Given the description of an element on the screen output the (x, y) to click on. 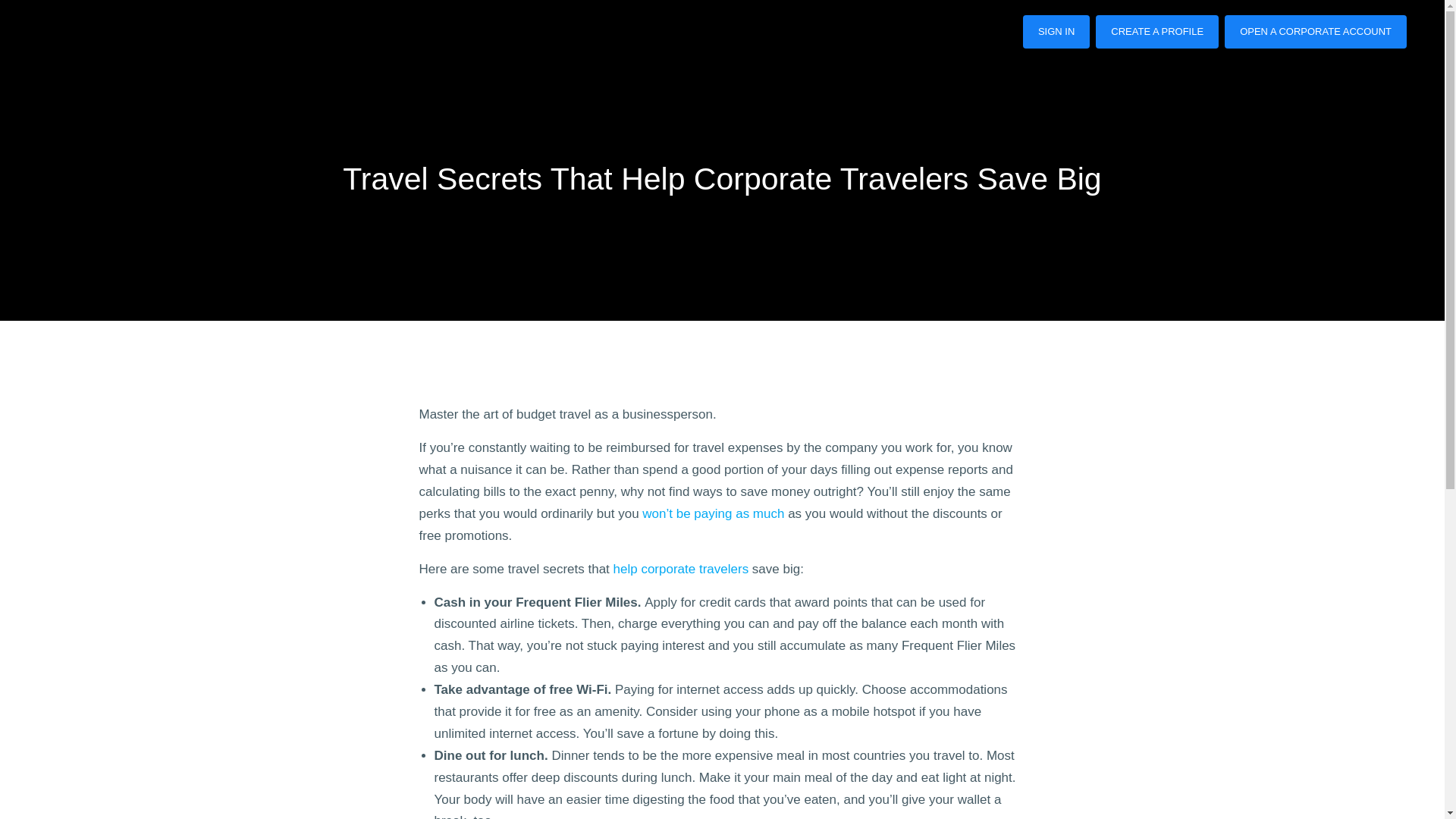
SIGN IN (1056, 31)
help corporate travelers (680, 568)
CREATE A PROFILE (1157, 31)
OPEN A CORPORATE ACCOUNT (1315, 31)
